Given the description of an element on the screen output the (x, y) to click on. 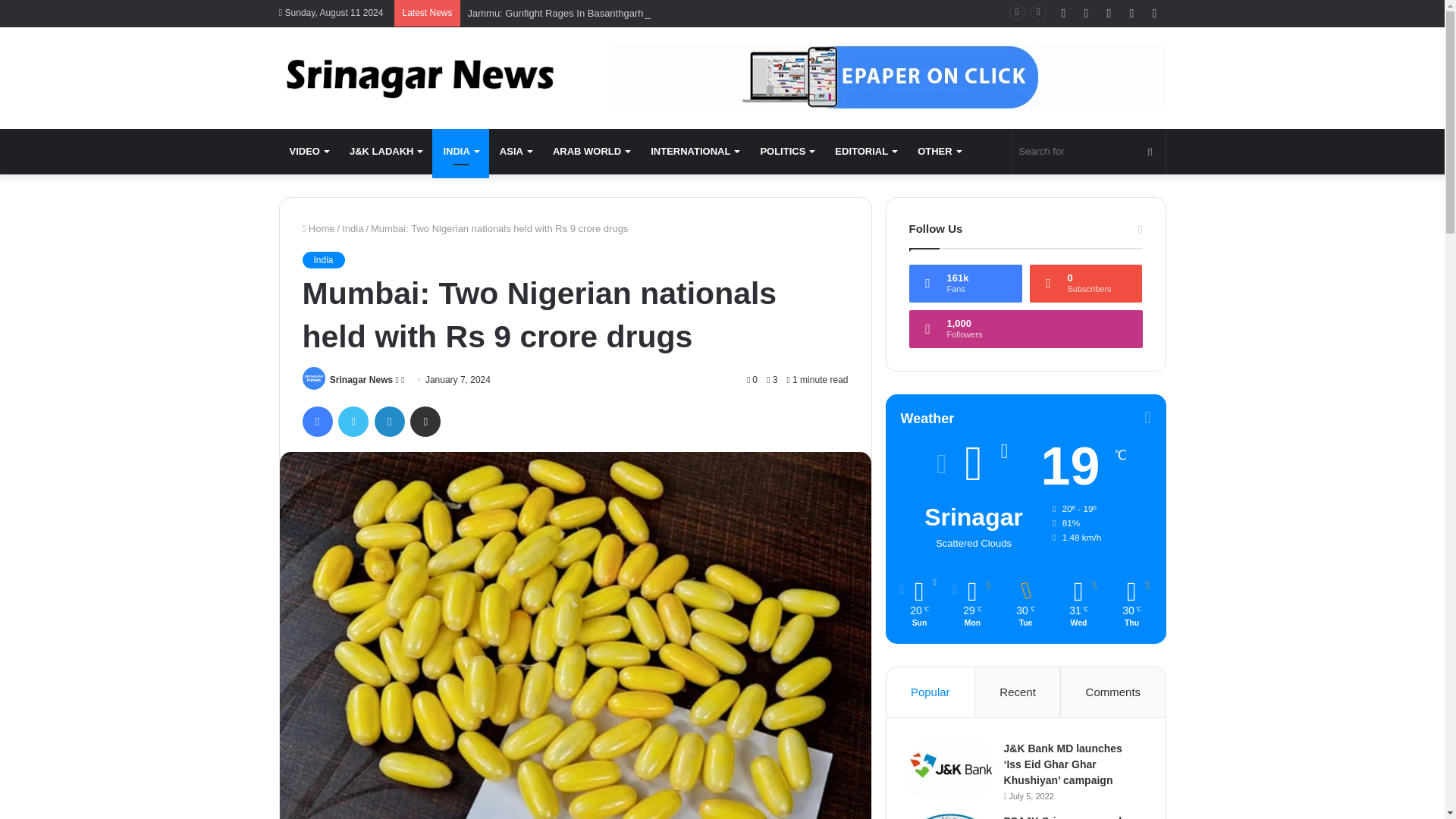
ASIA (515, 151)
Srinagar News (361, 379)
Home (317, 228)
LinkedIn (389, 421)
India (352, 228)
Twitter (352, 421)
Jammu: Gunfight Rages In Basanthgarh area of Udhampur (596, 12)
Srinagar News (361, 379)
Facebook (316, 421)
VIDEO (309, 151)
